Given the description of an element on the screen output the (x, y) to click on. 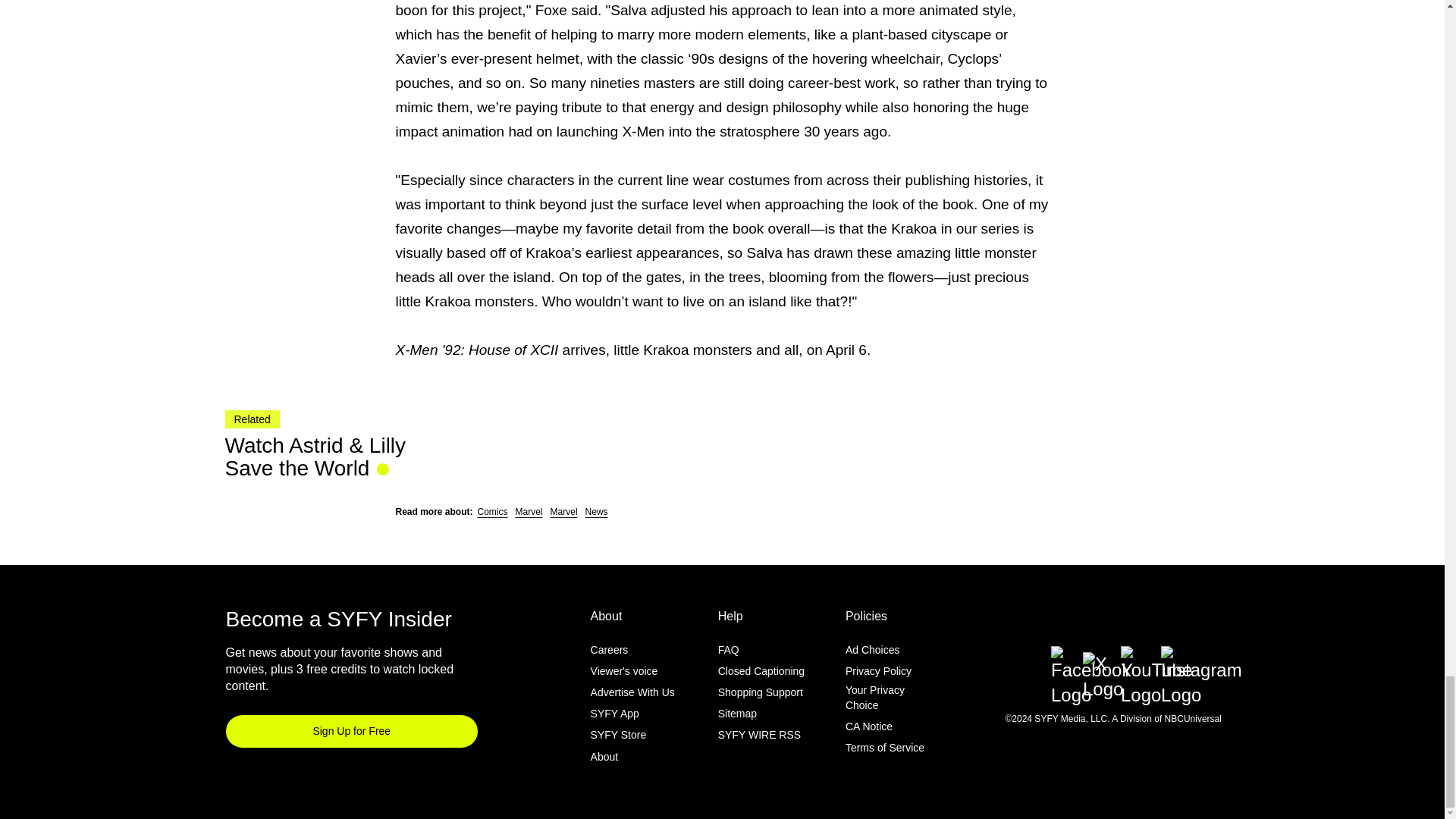
Advertise With Us (633, 692)
Marvel (529, 511)
Comics (492, 511)
Marvel (564, 511)
News (596, 511)
